Given the description of an element on the screen output the (x, y) to click on. 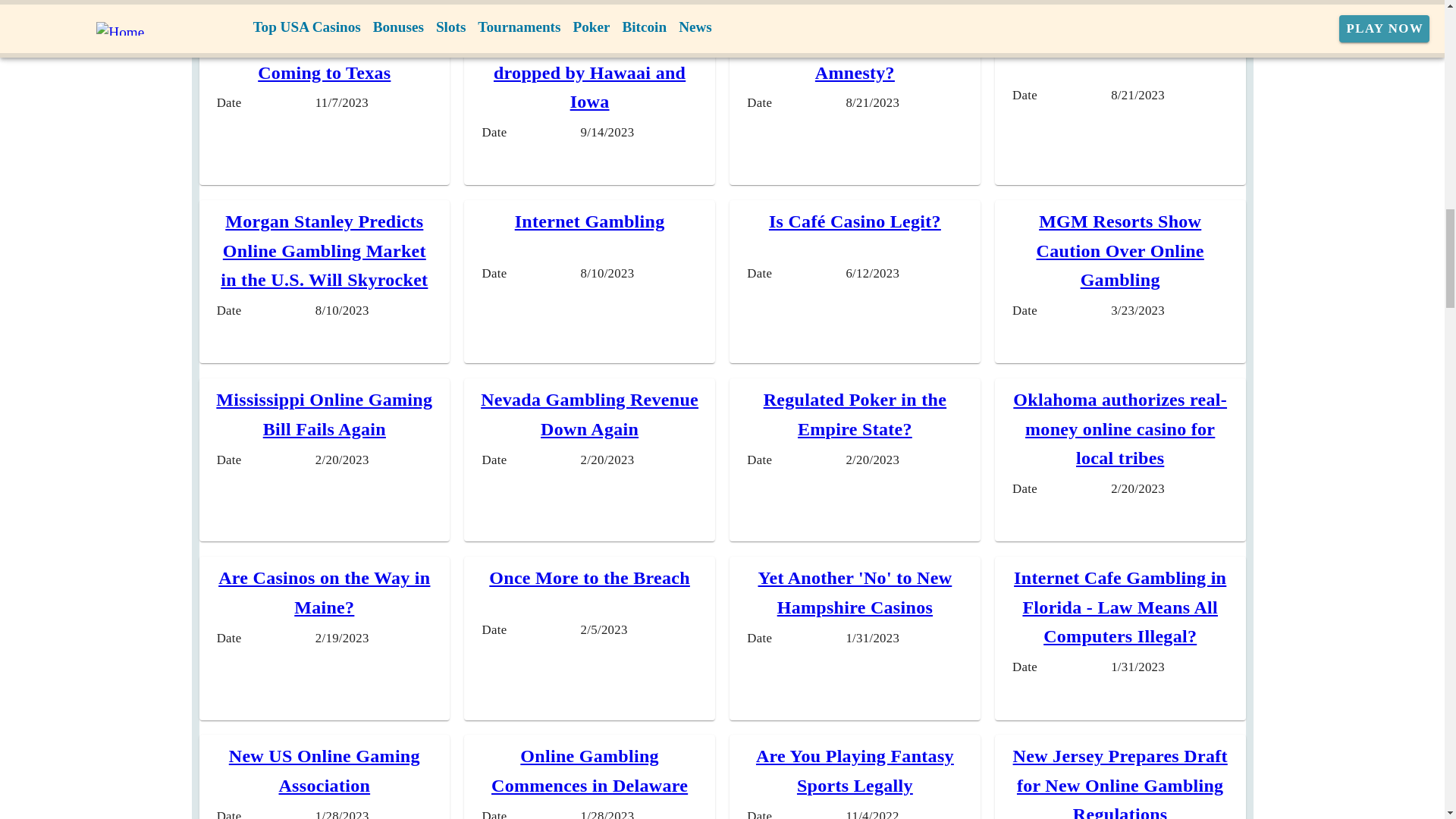
Online Poker legislation dropped by Hawaai and Iowa (589, 72)
Online Gambling: General Amnesty? (854, 57)
Casino Gaming Could be Coming to Texas (324, 57)
